Given the description of an element on the screen output the (x, y) to click on. 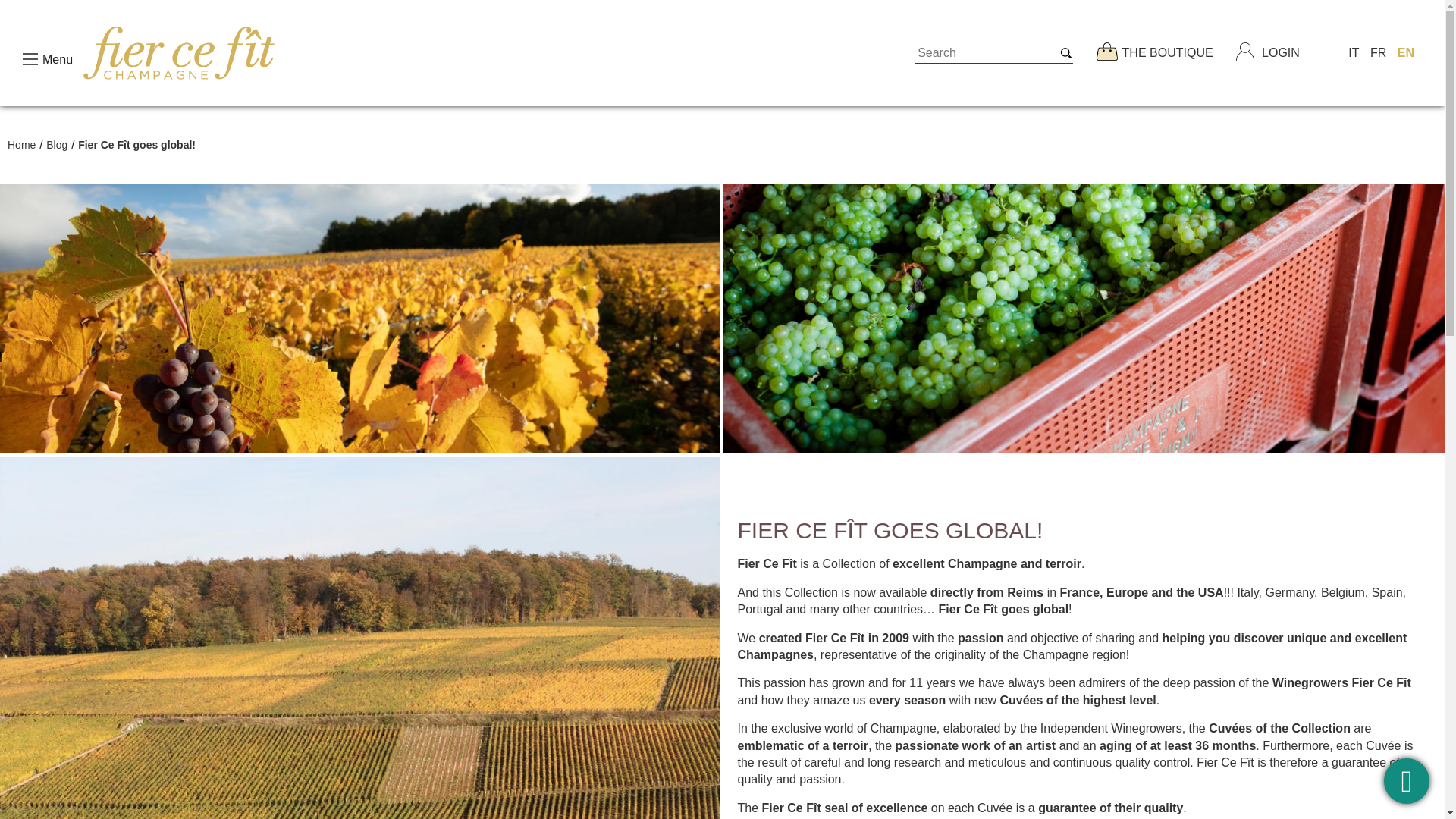
EN (1405, 53)
THE BOUTIQUE (1167, 53)
Blog (56, 144)
LOGIN (1281, 53)
Home (20, 144)
FR (1406, 780)
